Given the description of an element on the screen output the (x, y) to click on. 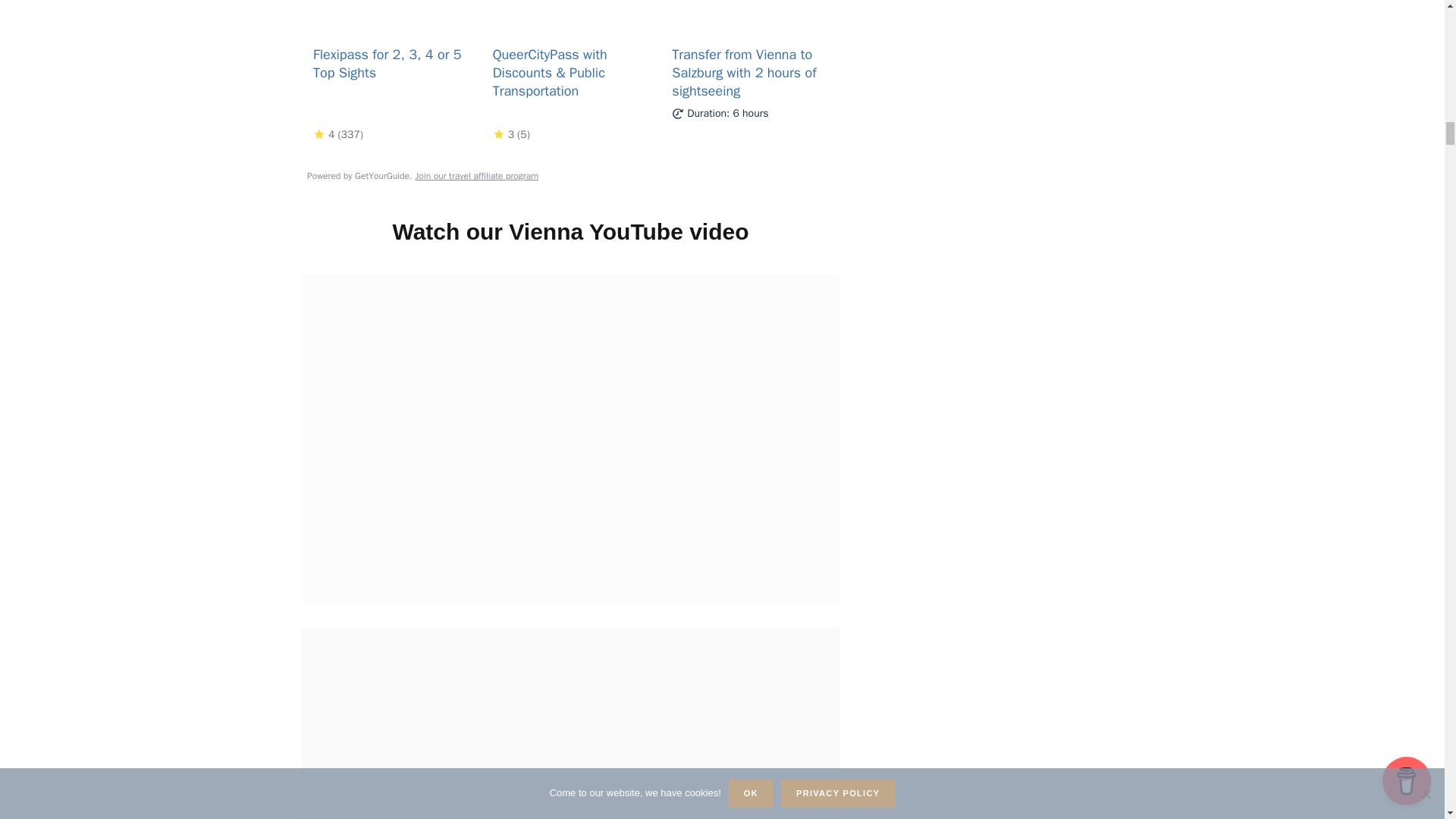
GetYourGuide Widget (570, 93)
